Given the description of an element on the screen output the (x, y) to click on. 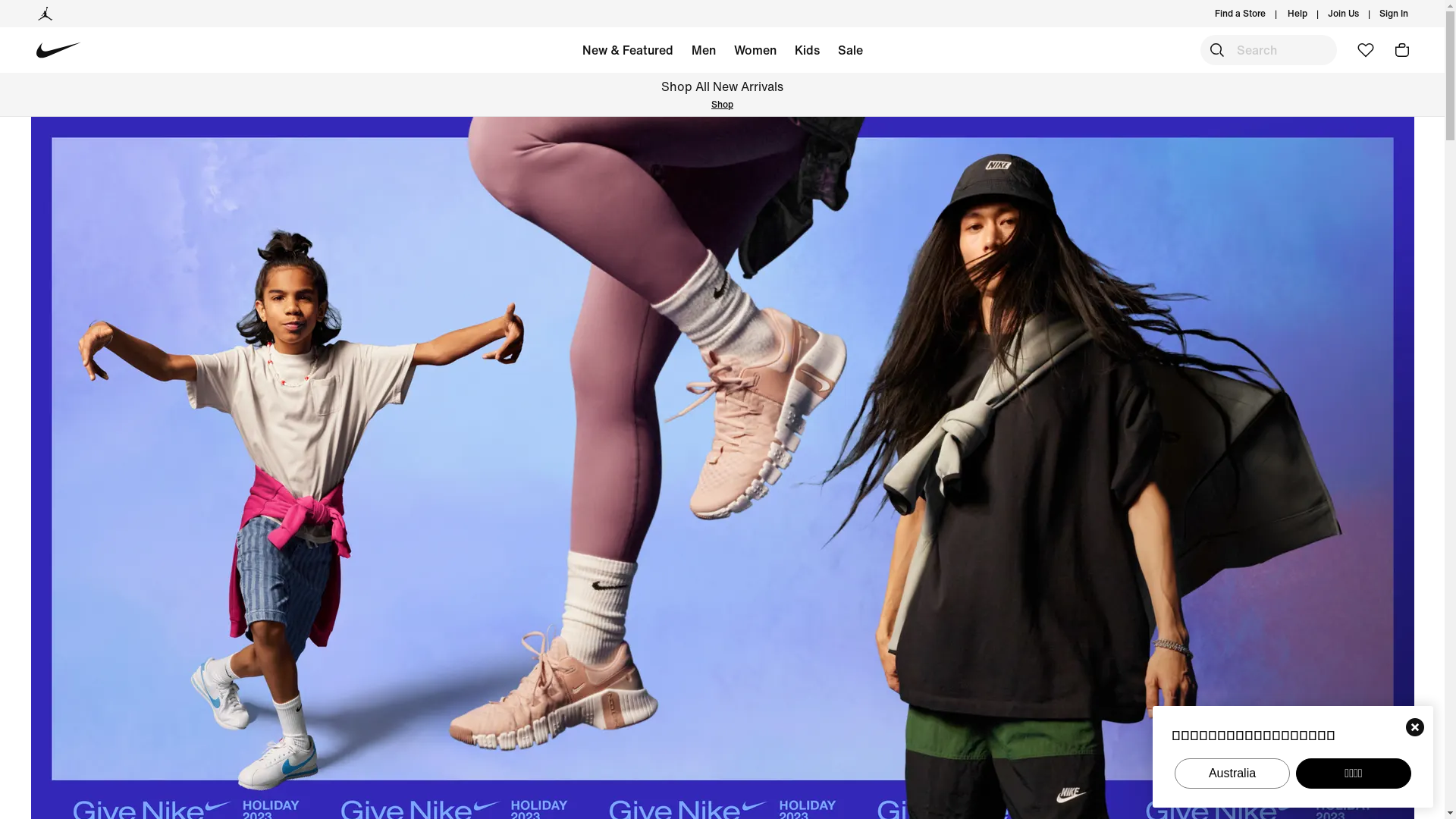
Confirm Element type: hover (1414, 727)
Bag Items: 0 Element type: hover (1401, 49)
Help Element type: text (1297, 13)
Australia Element type: text (1231, 773)
Join Us Element type: text (1342, 13)
Women Element type: text (754, 52)
Sign In Element type: text (1393, 13)
Men Element type: text (703, 52)
Sale Element type: text (849, 52)
Shop Element type: text (403, 103)
Kids Element type: text (806, 52)
Find a Store Element type: text (1239, 13)
New & Featured Element type: text (627, 52)
Favourites Element type: hover (1365, 49)
